Given the description of an element on the screen output the (x, y) to click on. 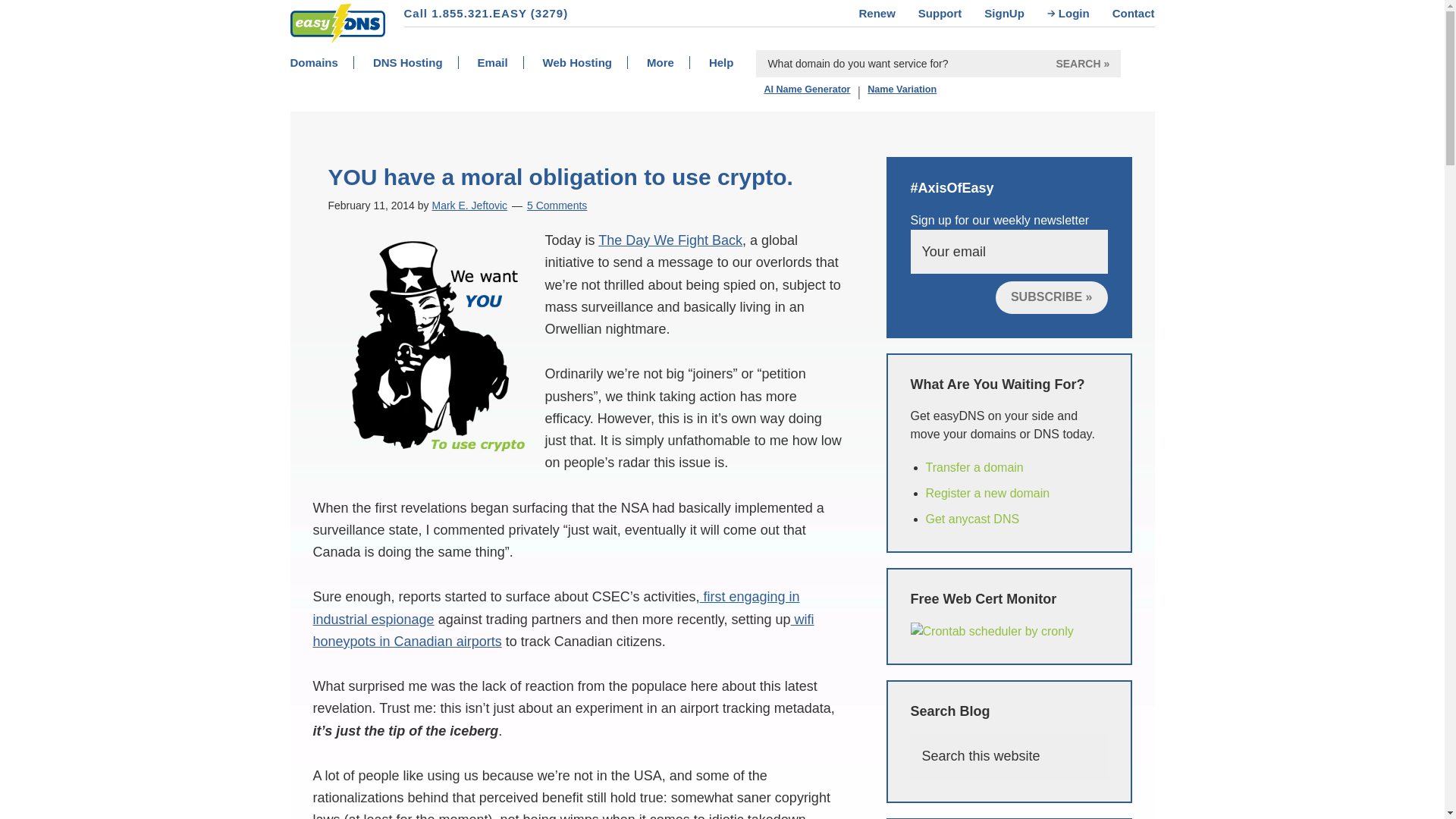
Renew (888, 13)
Contact (1133, 13)
Login (1085, 13)
easyDNS (322, 51)
Support (951, 13)
Domains (328, 61)
DNS Hosting (423, 61)
SignUp (1015, 13)
